Given the description of an element on the screen output the (x, y) to click on. 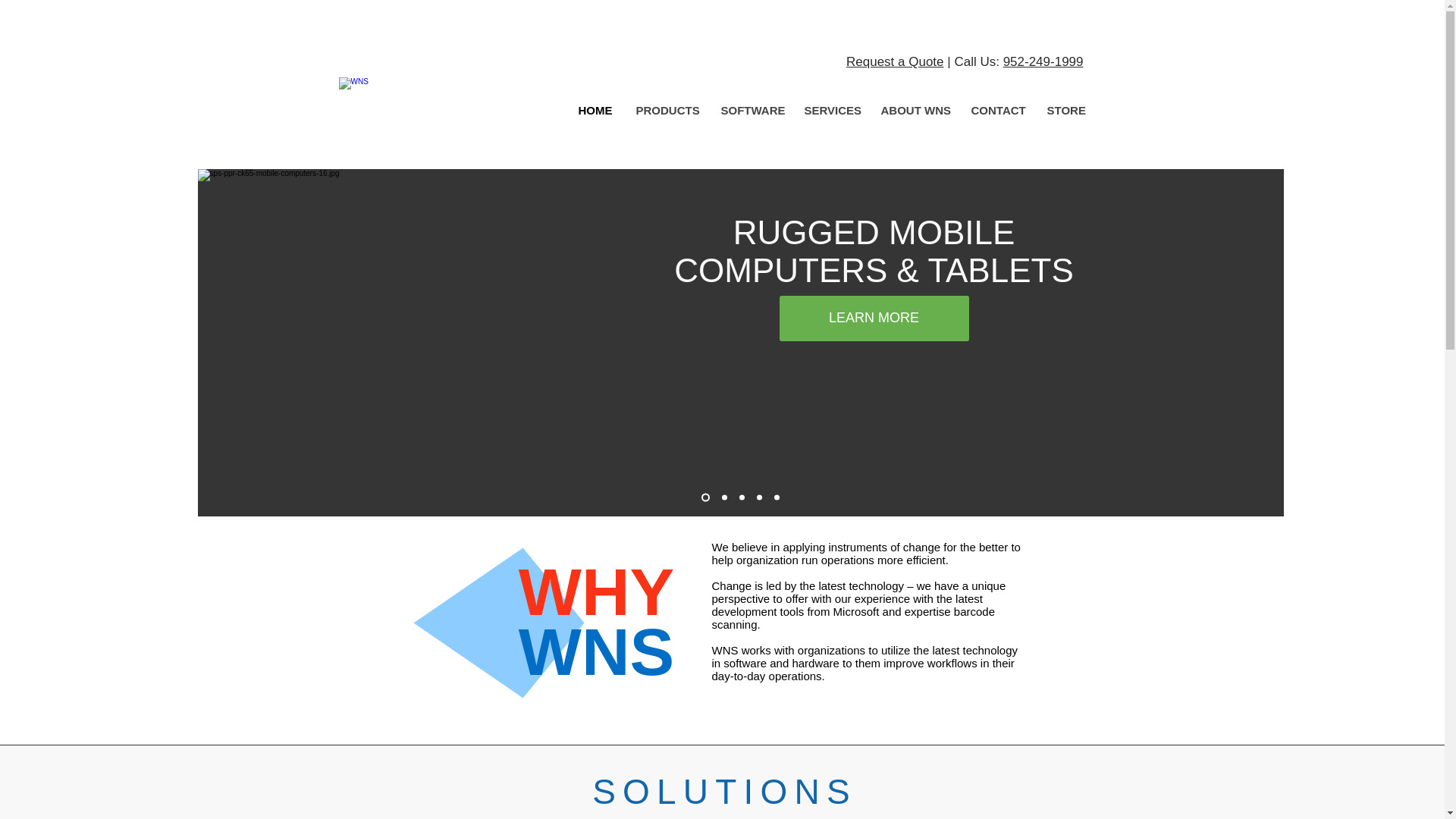
STORE (1063, 110)
ABOUT WNS (914, 110)
LEARN MORE (873, 318)
Request a Quote (894, 61)
CONTACT (995, 110)
HOME (595, 110)
PRODUCTS (665, 110)
SOFTWARE (749, 110)
952-249-1999 (1043, 61)
SERVICES (829, 110)
